Given the description of an element on the screen output the (x, y) to click on. 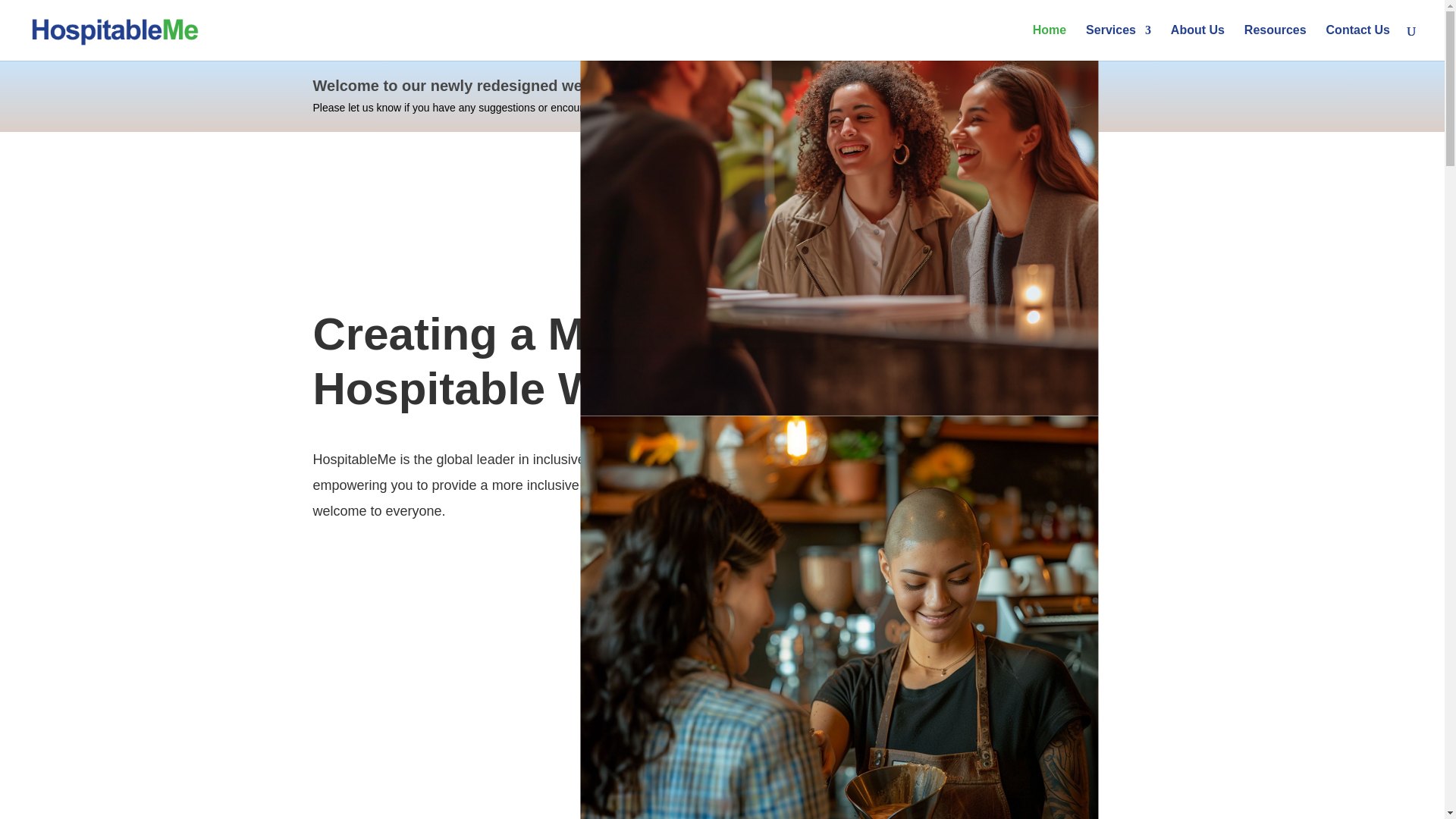
Send Feedback (1010, 95)
Resources (1275, 42)
About Us (1197, 42)
Home (1048, 42)
Services (1118, 42)
Contact Us (1358, 42)
